Given the description of an element on the screen output the (x, y) to click on. 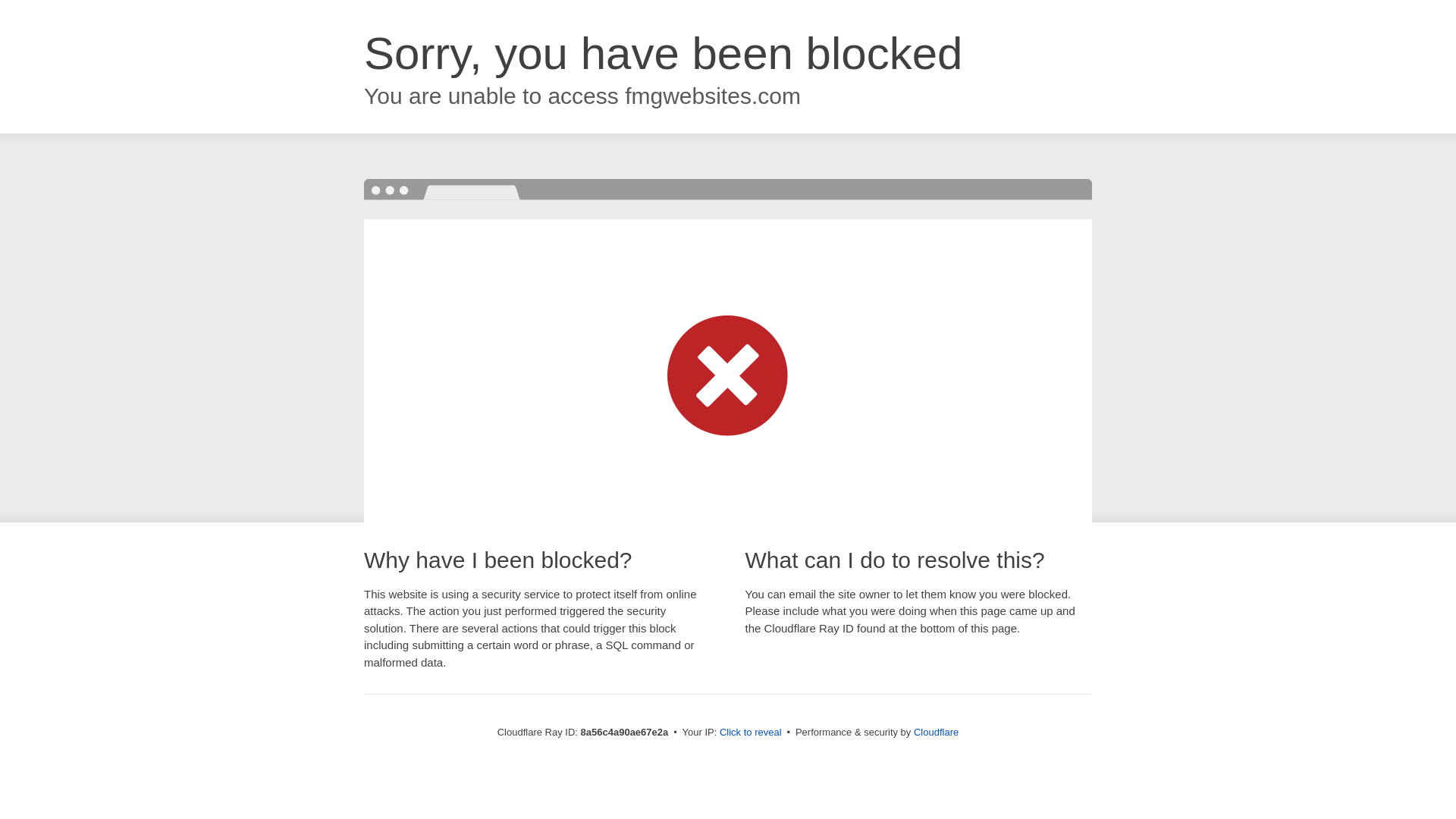
Click to reveal (750, 732)
Cloudflare (936, 731)
